Given the description of an element on the screen output the (x, y) to click on. 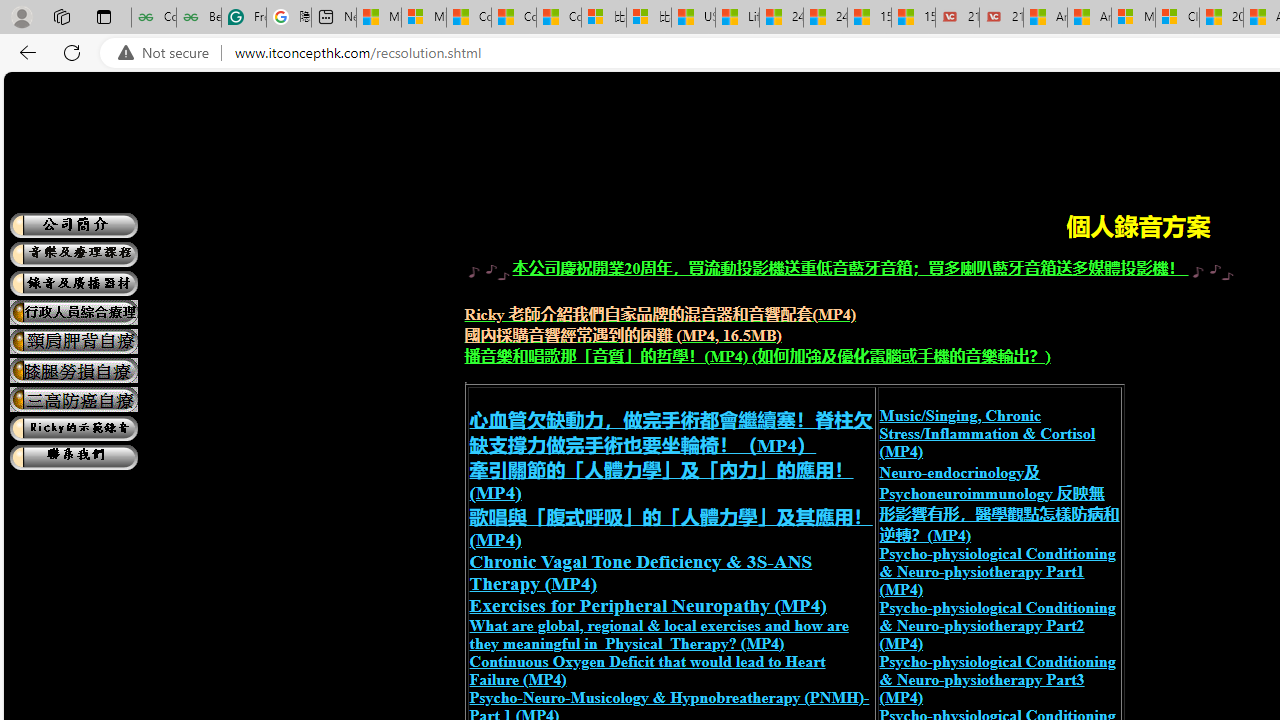
15 Ways Modern Life Contradicts the Teachings of Jesus (913, 17)
Not secure (168, 53)
Exercises for Peripheral Neuropathy (MP4) (647, 605)
21 Movies That Outdid the Books They Were Based On (1001, 17)
